Given the description of an element on the screen output the (x, y) to click on. 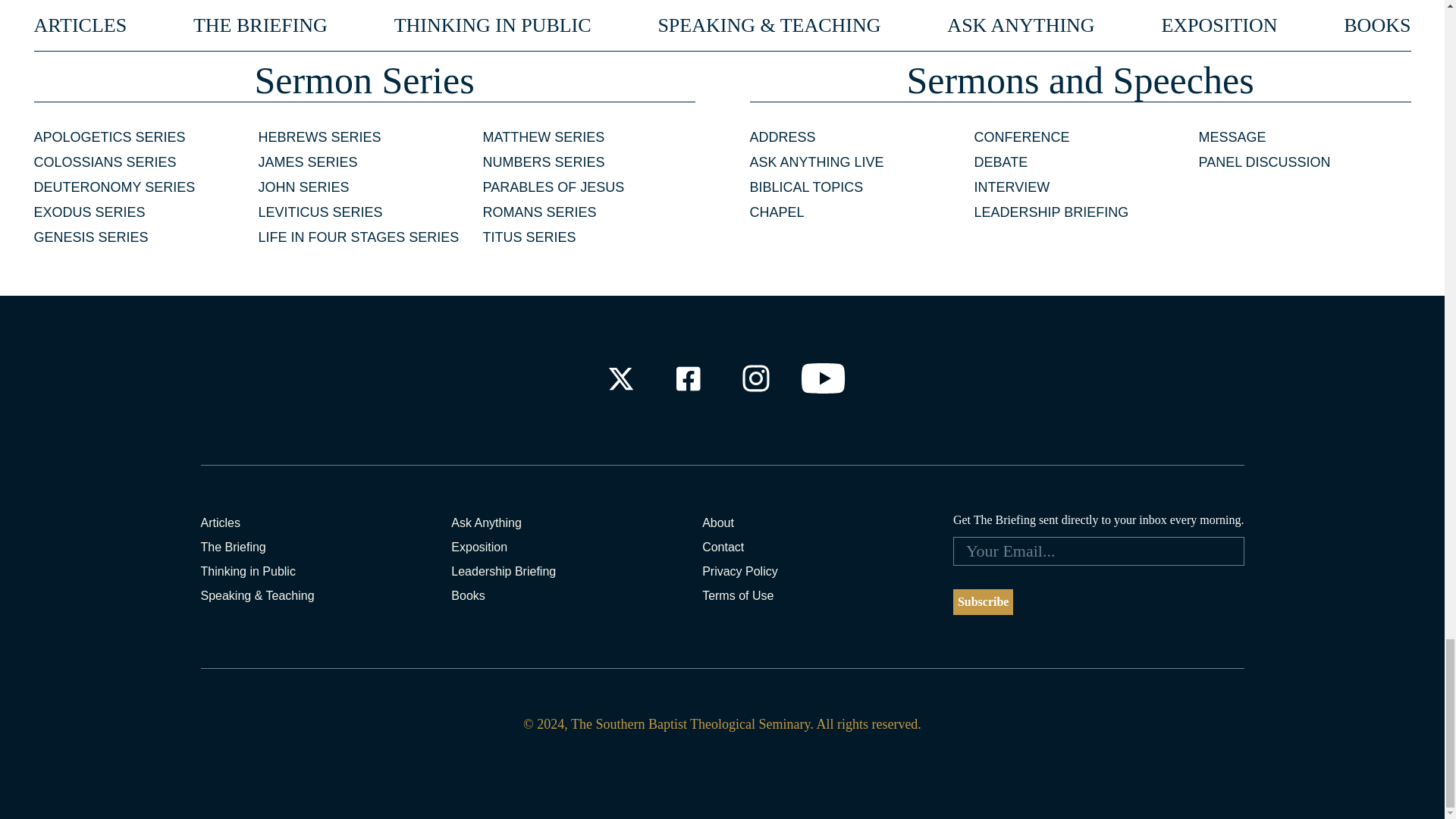
Check out our Instagram Profile (755, 378)
Check out our Facebook Profile (687, 378)
Check out our Youtube Channel (822, 378)
Check out our X Profile (620, 378)
Subscribe (983, 601)
